Given the description of an element on the screen output the (x, y) to click on. 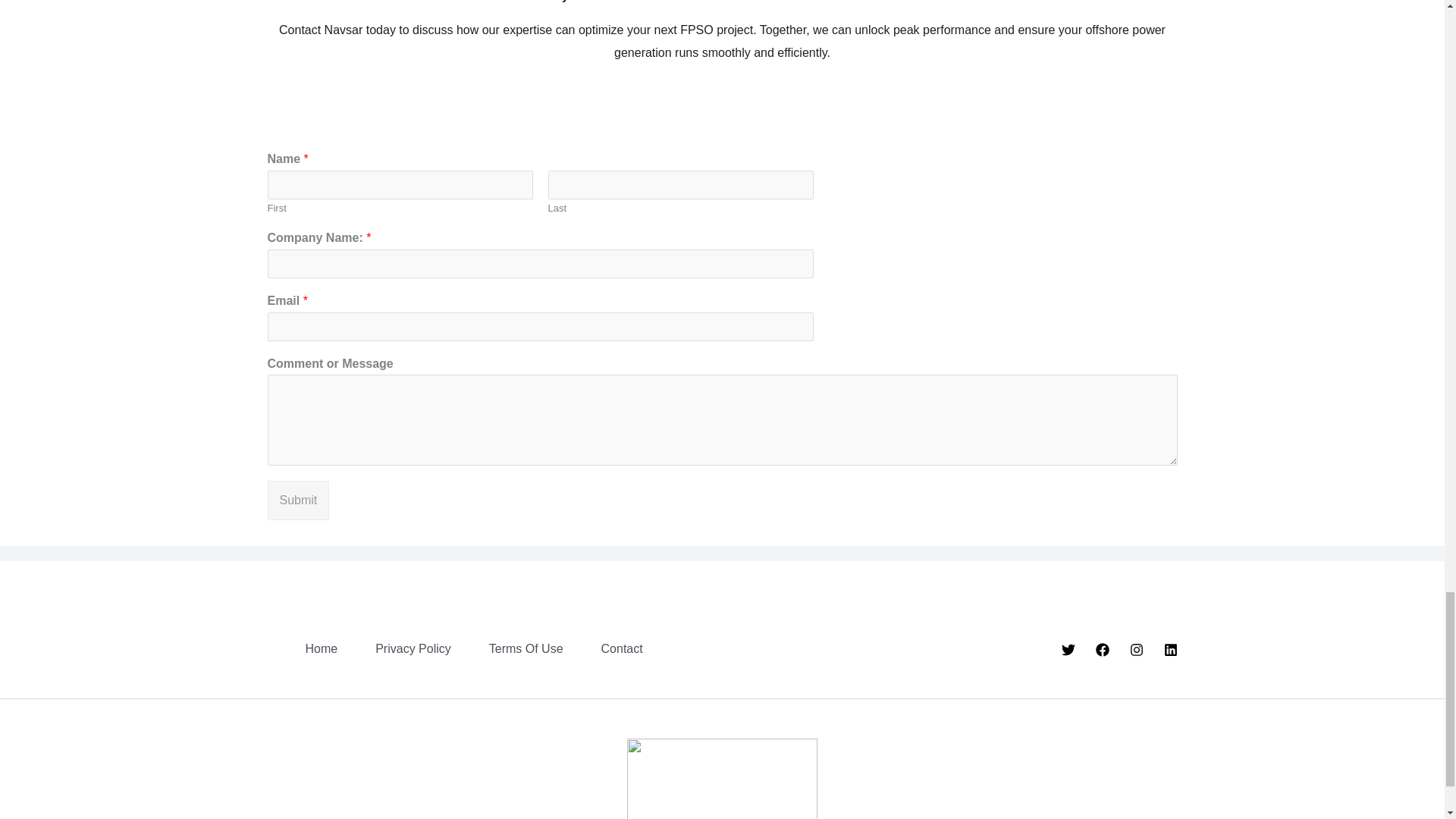
Privacy Policy (394, 649)
Terms Of Use (507, 649)
Submit (297, 500)
Contact (603, 649)
Home (301, 649)
